Given the description of an element on the screen output the (x, y) to click on. 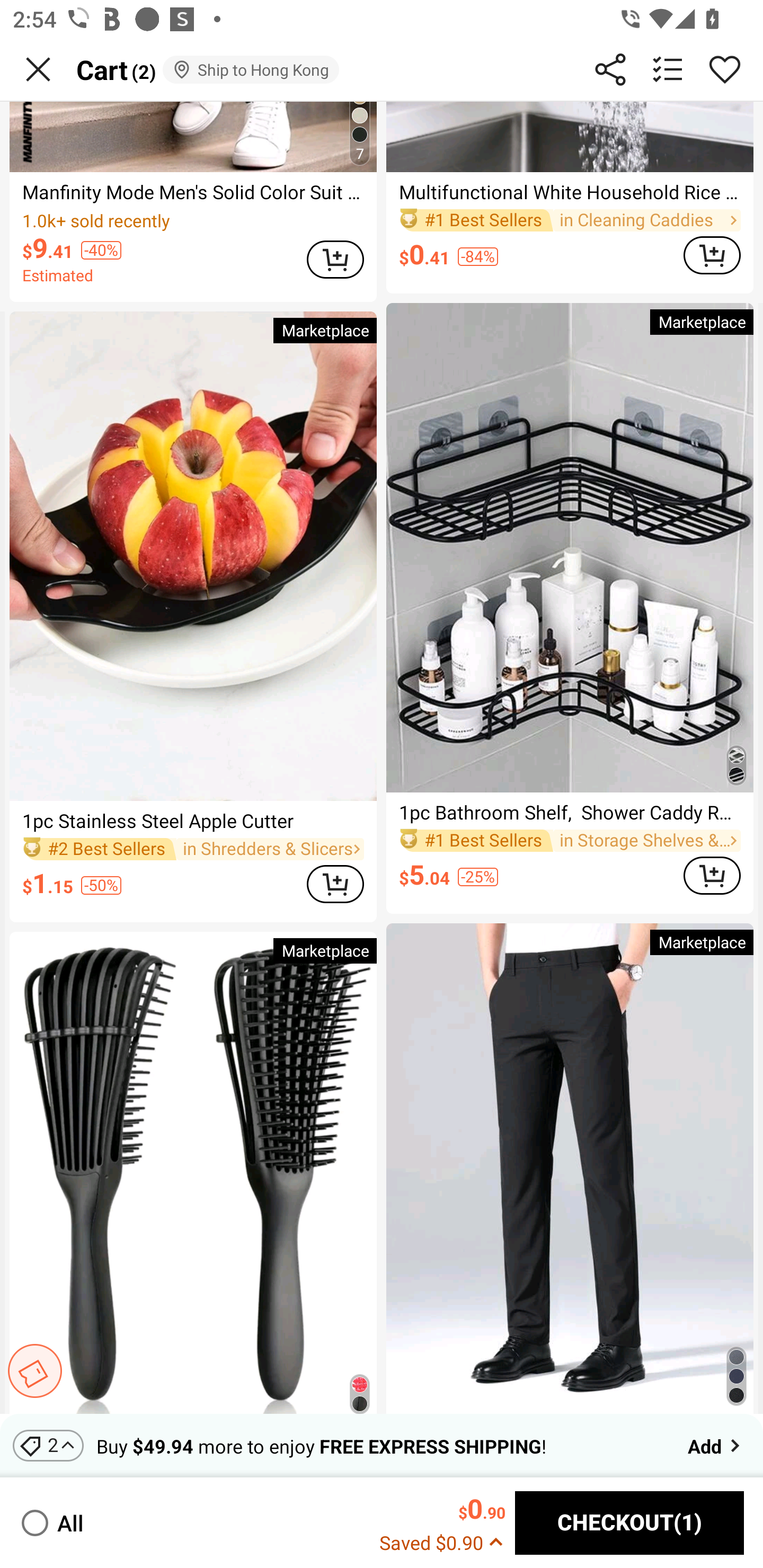
BACK (38, 68)
Wishlist (724, 68)
Share (610, 68)
batch delete (667, 68)
Ship to Hong Kong (250, 68)
#1 Best Sellers in Cleaning Caddies (569, 219)
ADD TO CART (711, 255)
ADD TO CART (334, 259)
#1 Best Sellers in Storage Shelves & Racks (569, 839)
#2 Best Sellers in Shredders & Slicers (192, 848)
ADD TO CART (711, 875)
ADD TO CART (334, 884)
Men Solid Slant Pocket Suit Pants Marketplace (569, 1168)
Coupon Alert Add $0.00 more to get 20% OFF (34, 1370)
2 (48, 1445)
Add (715, 1445)
CHECKOUT(1) (629, 1523)
All (51, 1522)
